Given the description of an element on the screen output the (x, y) to click on. 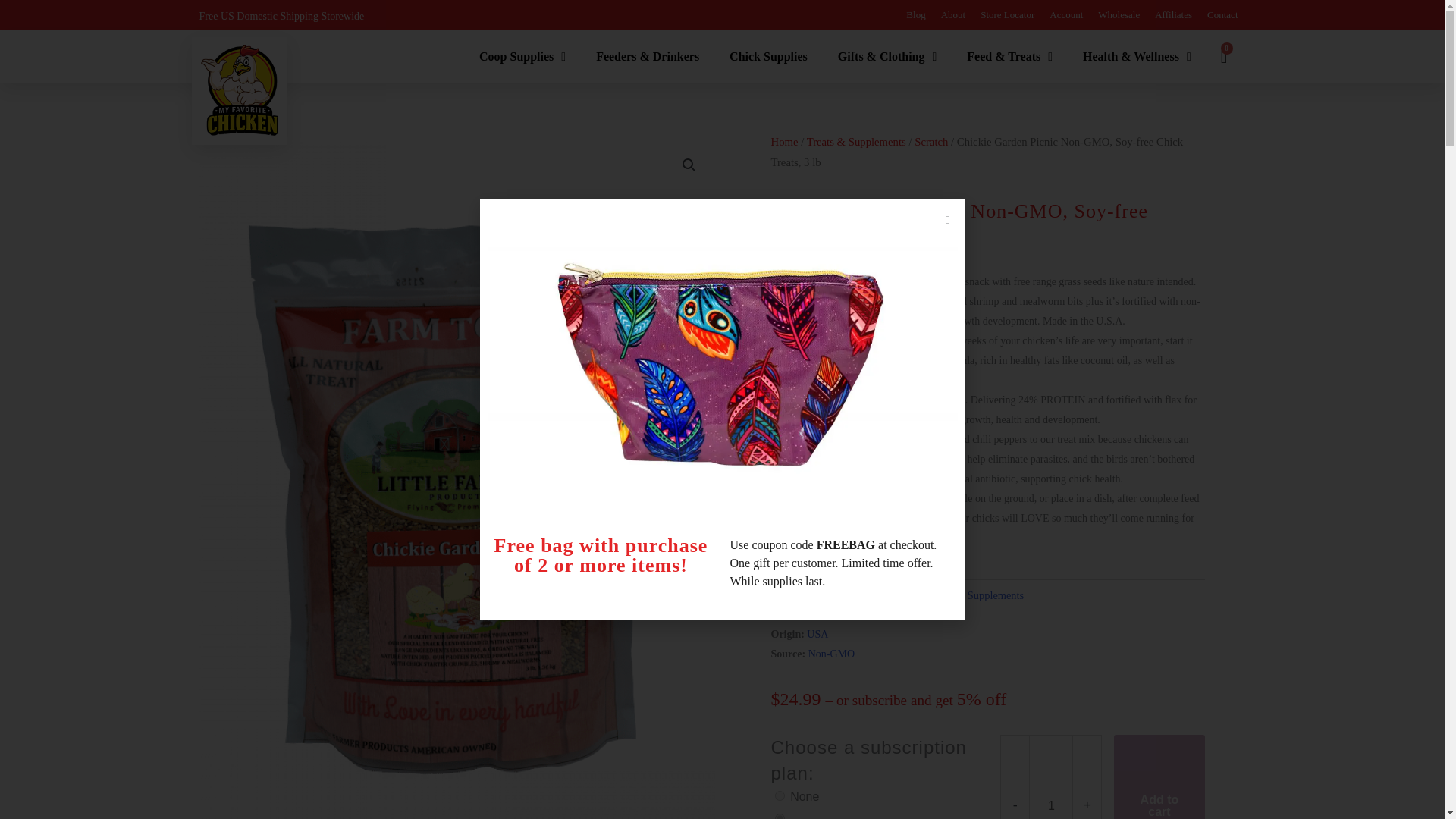
Chick Supplies (767, 56)
Coop Supplies (521, 56)
Affiliates (1173, 14)
About (953, 14)
Store Locator (1007, 14)
Account (1066, 14)
Blog (915, 14)
Contact (1221, 14)
Wholesale (1118, 14)
0 (779, 795)
